Given the description of an element on the screen output the (x, y) to click on. 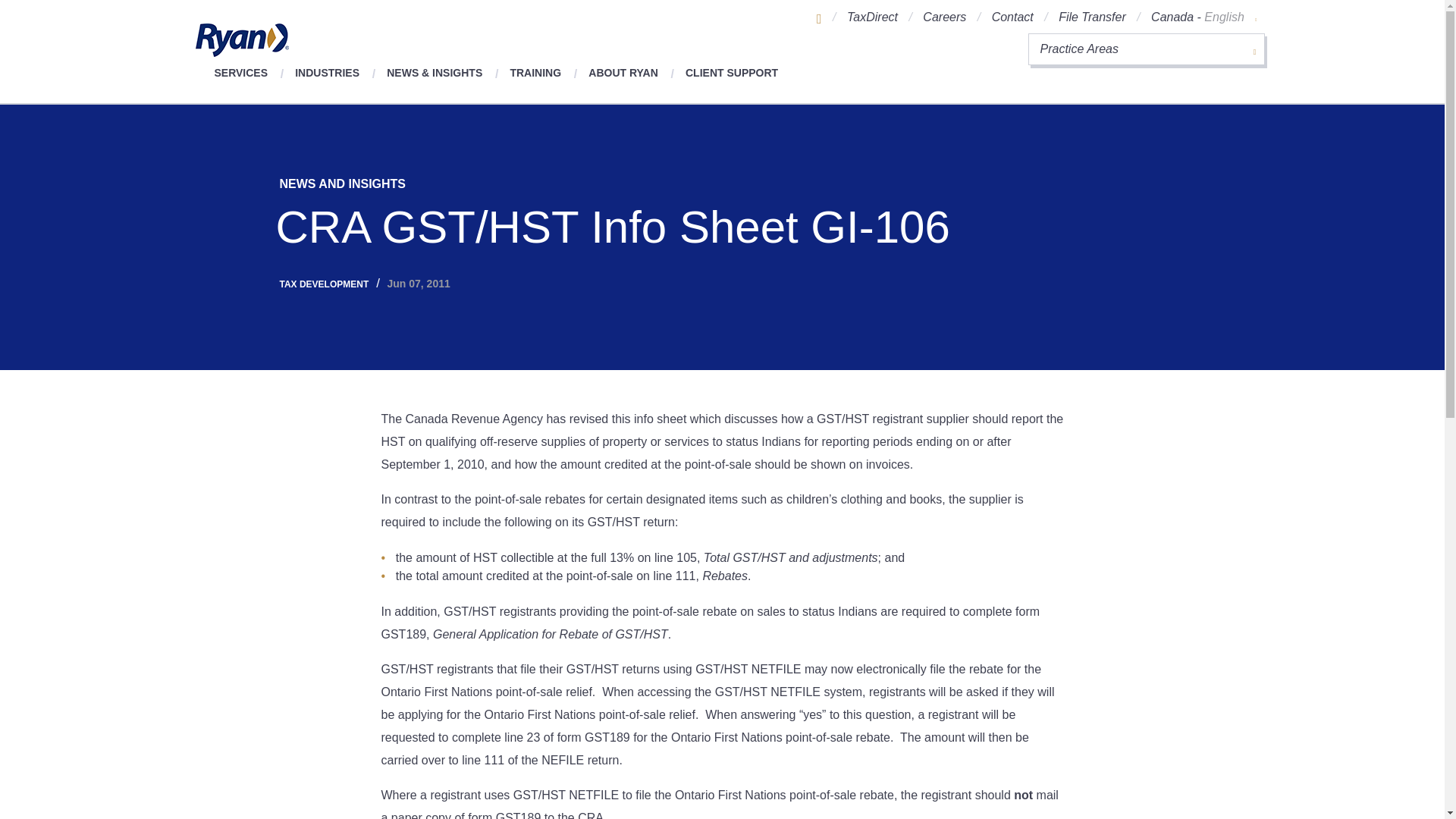
Contact (1012, 16)
Careers (944, 16)
TaxDirect (872, 16)
Canada - English (1203, 16)
File Transfer (1091, 16)
File Transfer (1091, 16)
TaxDirect (872, 16)
Careers (944, 16)
Contact (1012, 16)
